Given the description of an element on the screen output the (x, y) to click on. 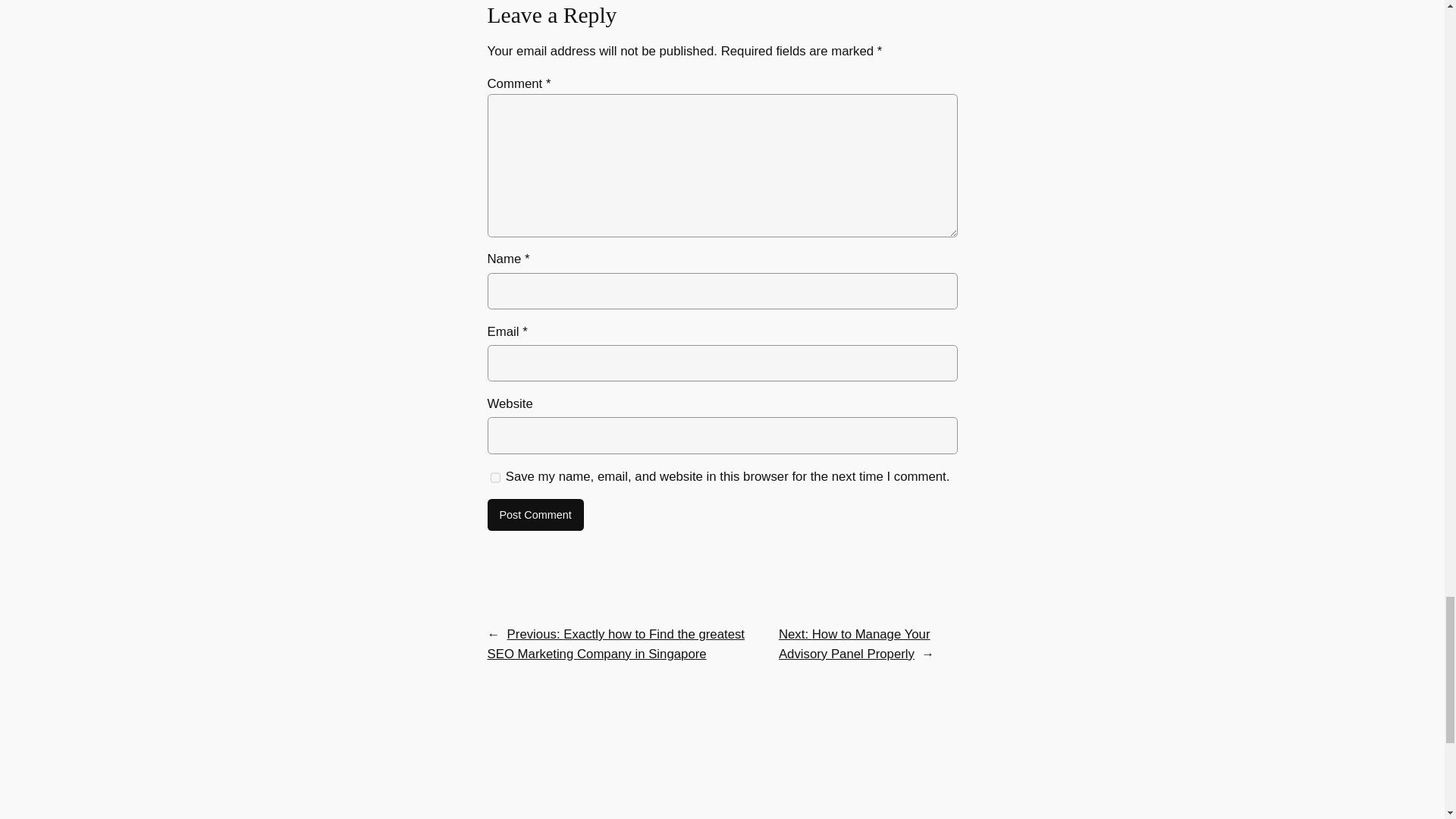
Next: How to Manage Your Advisory Panel Properly (854, 643)
Post Comment (534, 514)
Post Comment (534, 514)
